Given the description of an element on the screen output the (x, y) to click on. 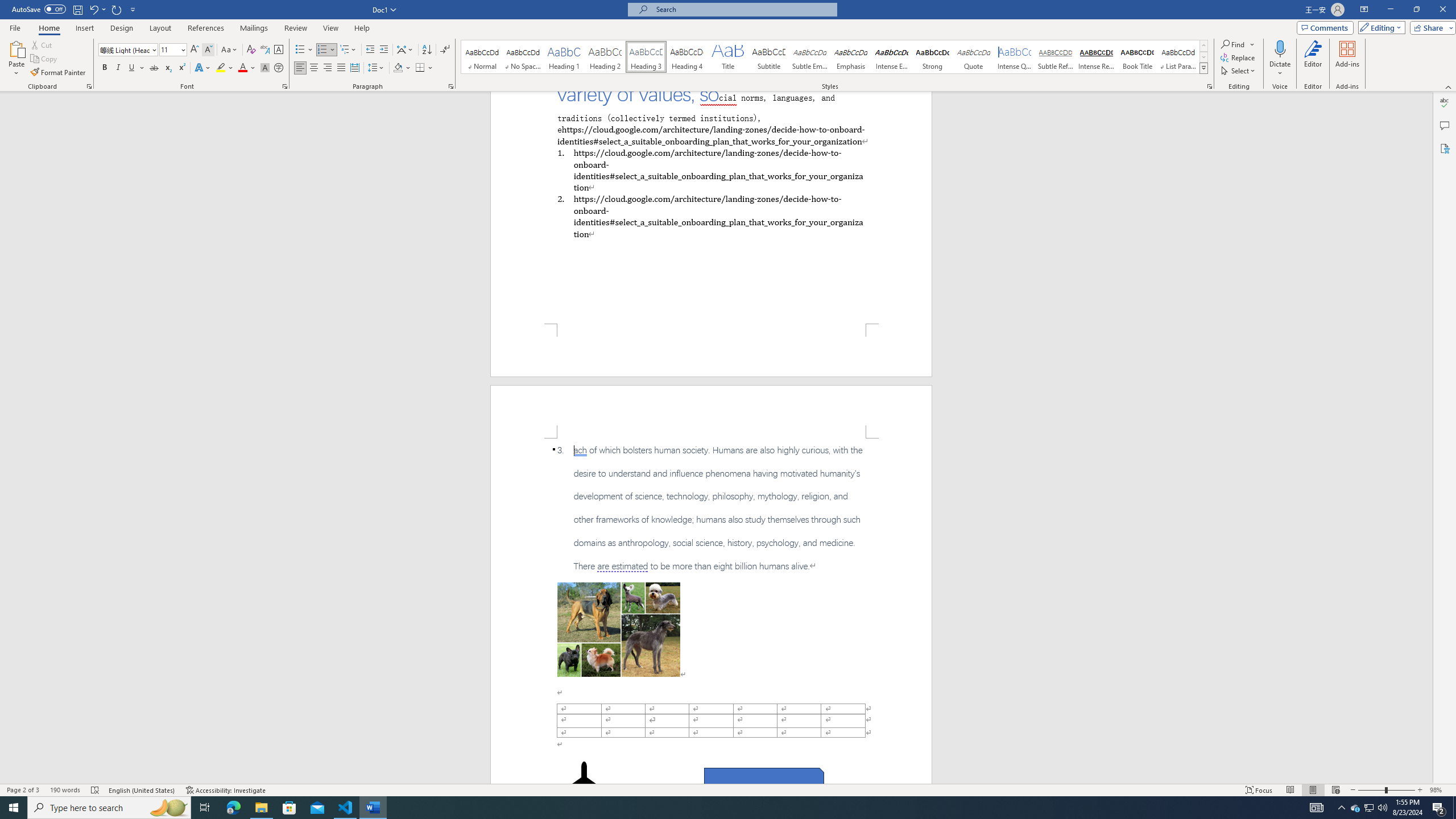
Increase Indent (383, 49)
Strikethrough (154, 67)
Italic (118, 67)
Emphasis (849, 56)
Format Painter (58, 72)
3. (710, 507)
Heading 1 (564, 56)
Spelling and Grammar Check Errors (94, 790)
